Given the description of an element on the screen output the (x, y) to click on. 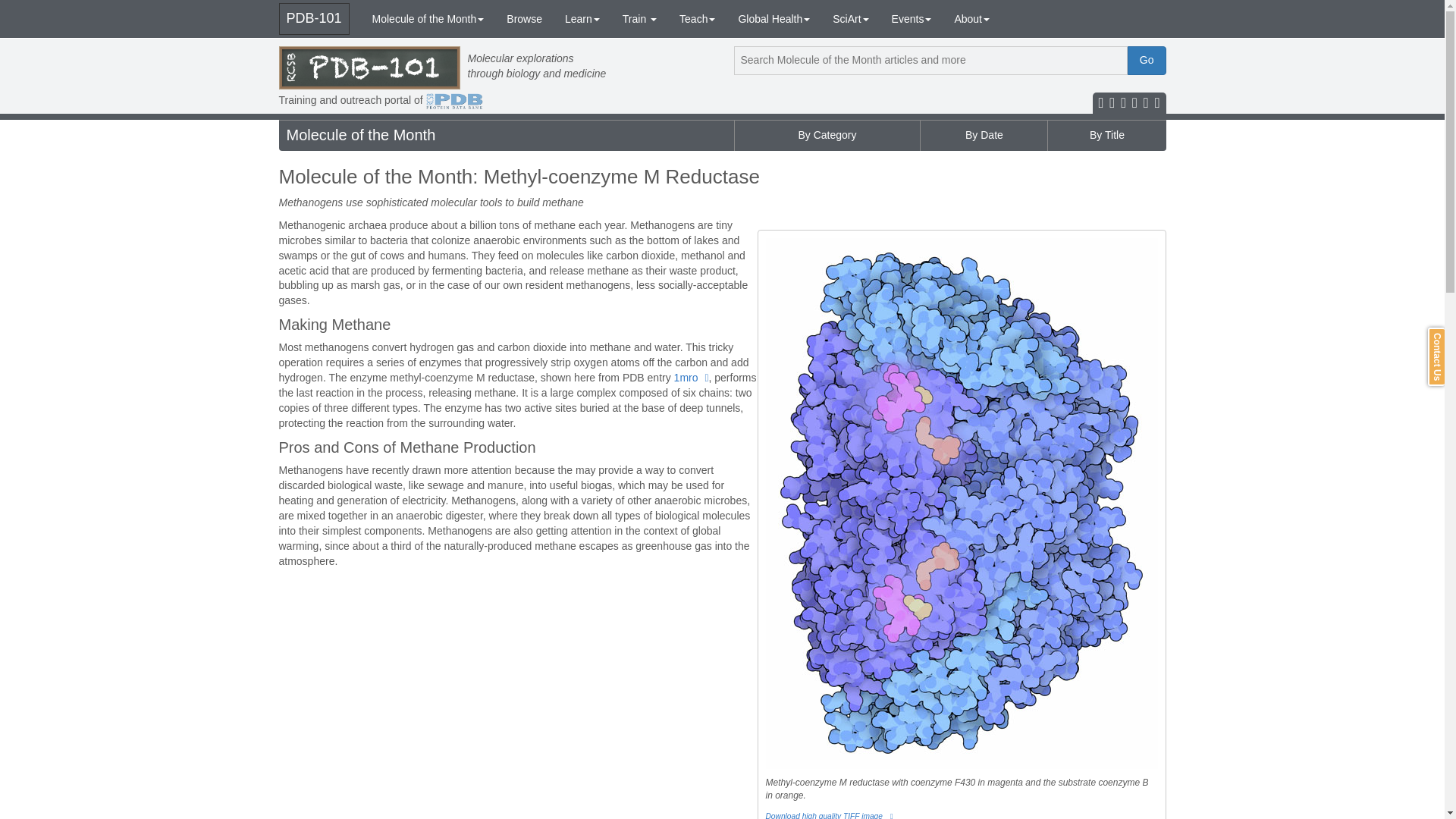
Molecule of the Month (428, 18)
Learn (582, 18)
PDB-101 (314, 19)
Browse (524, 18)
Teach (697, 18)
Train (639, 18)
Global Health (773, 18)
Methyl-coenzyme M Reductase (691, 377)
